Given the description of an element on the screen output the (x, y) to click on. 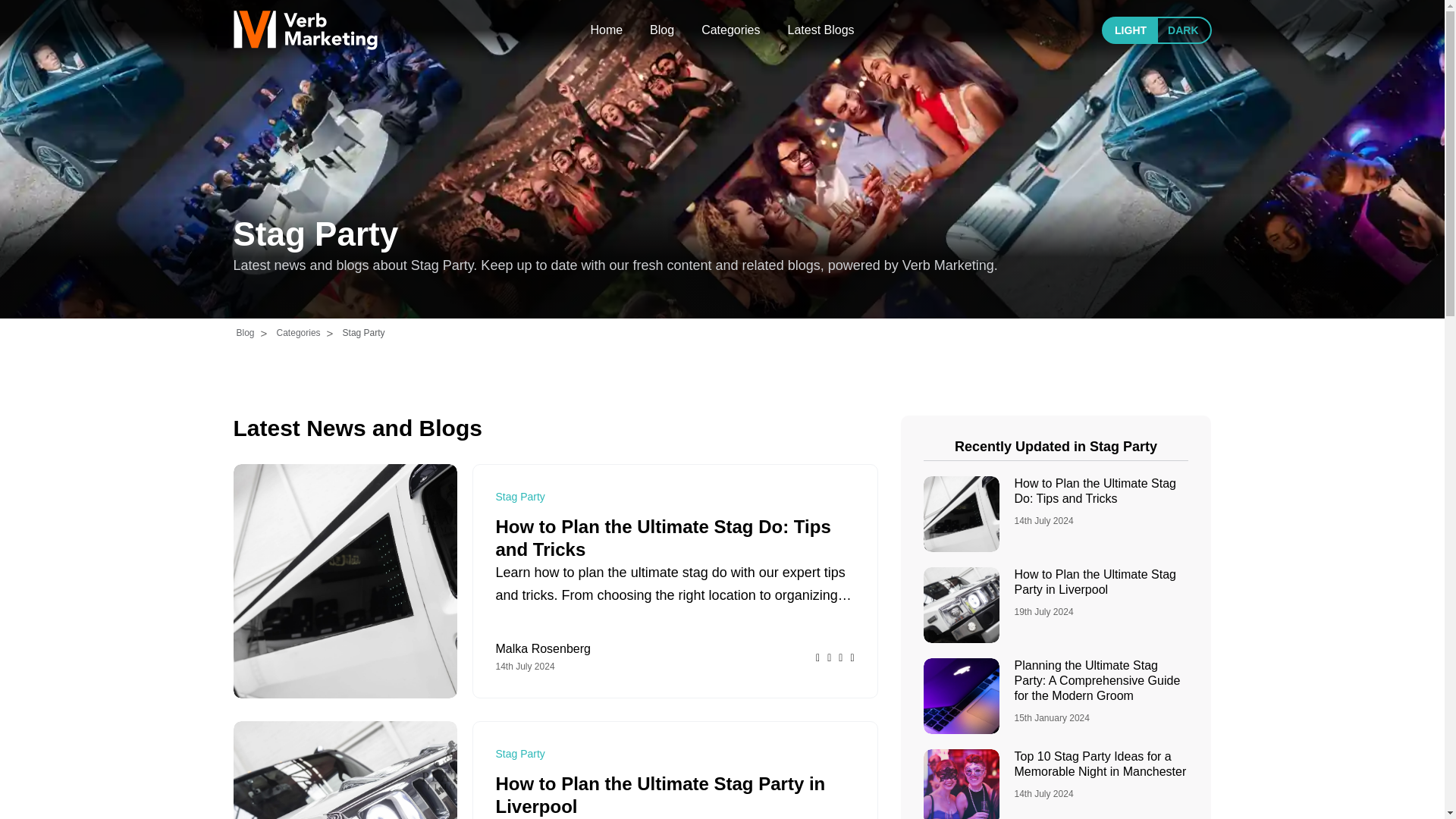
Latest Blogs (820, 30)
Latest Blogs (820, 30)
Categories (730, 30)
Categories (730, 30)
Verb Marketing (304, 29)
